Given the description of an element on the screen output the (x, y) to click on. 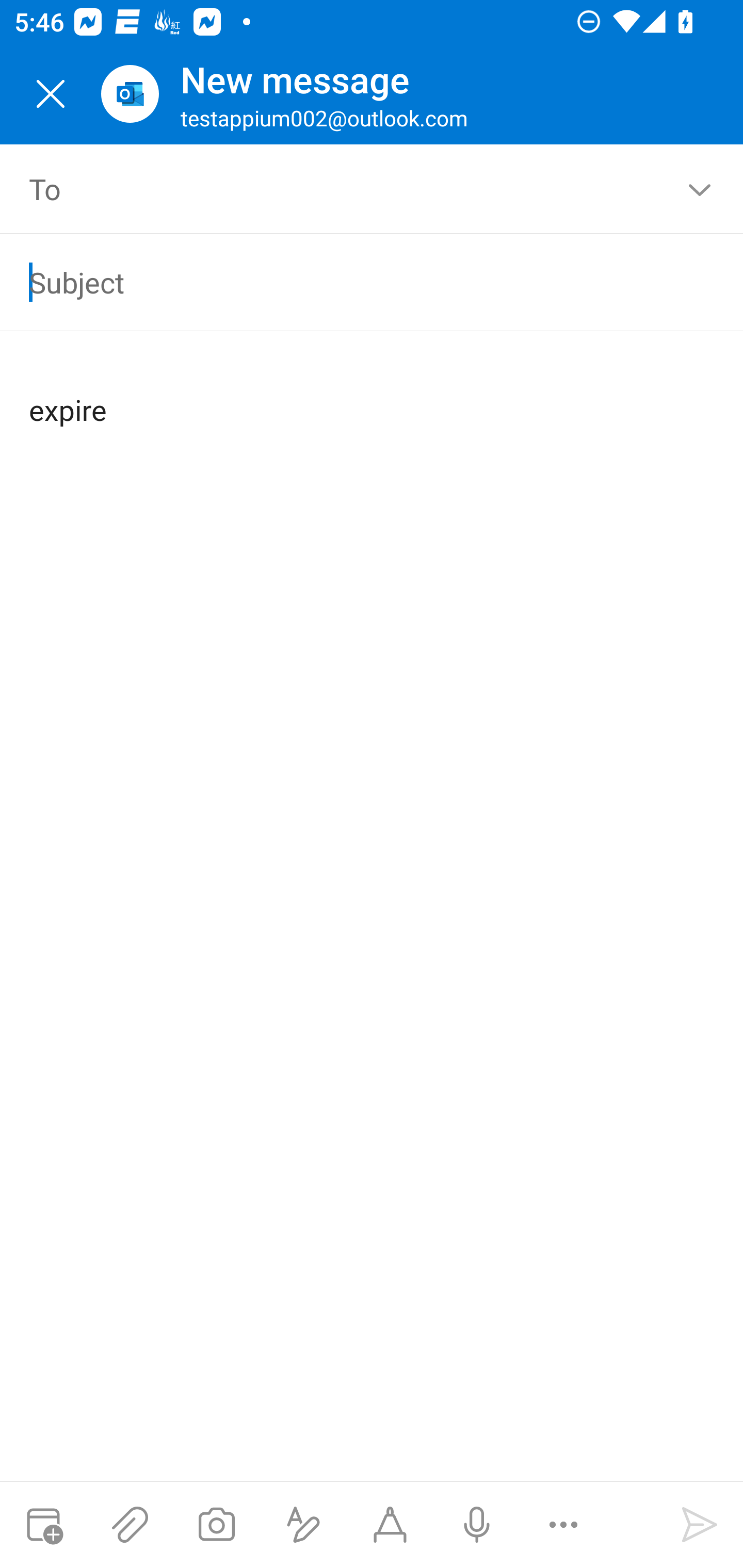
Close (50, 93)
Subject (342, 281)

expire (372, 394)
Attach meeting (43, 1524)
Attach files (129, 1524)
Take a photo (216, 1524)
Show formatting options (303, 1524)
Start Ink compose (389, 1524)
Dictation (476, 1524)
More options (563, 1524)
Send (699, 1524)
